Given the description of an element on the screen output the (x, y) to click on. 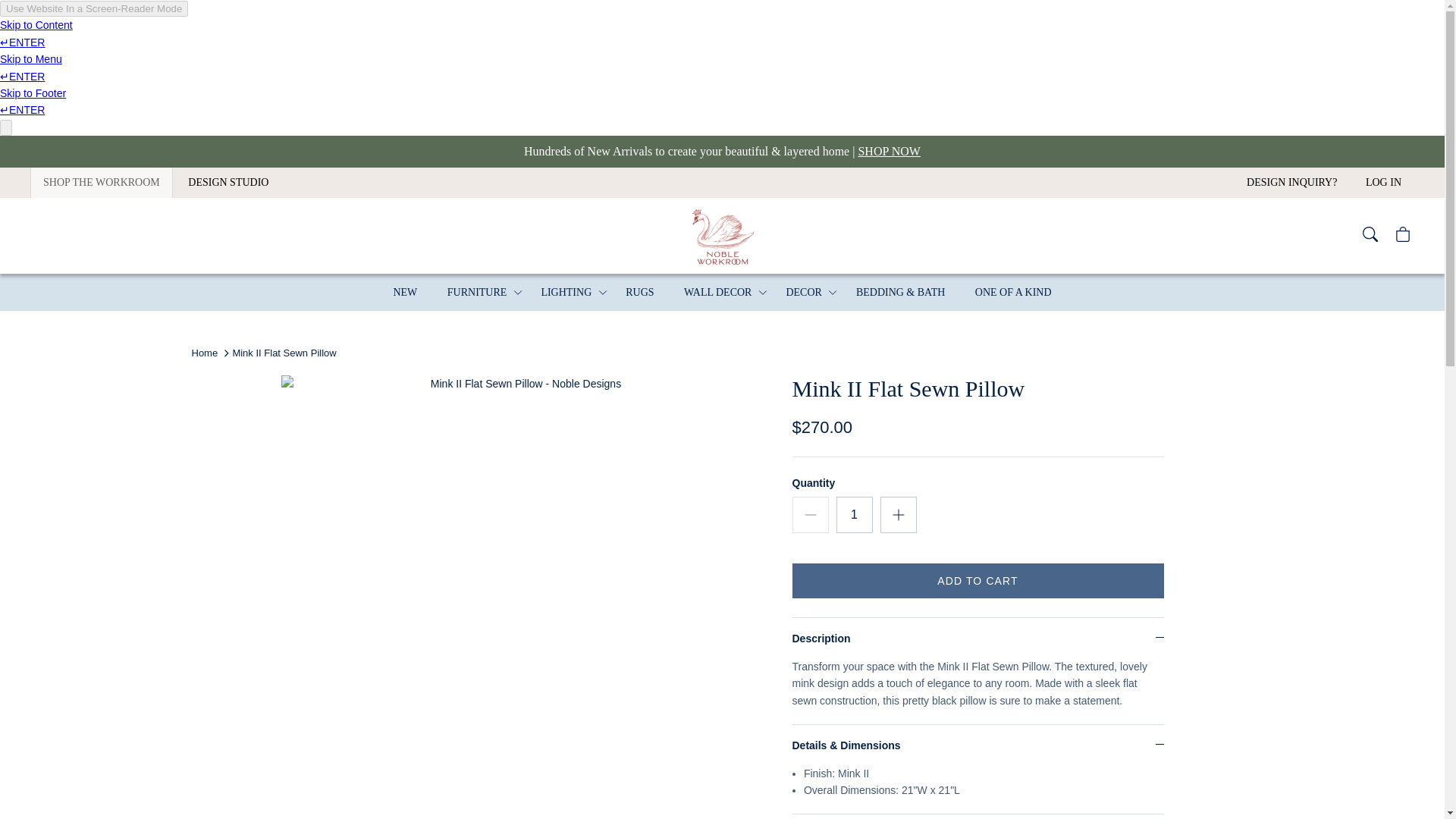
New Arrivals (722, 151)
Cart (1404, 235)
TOGGLE MENU (517, 292)
LOG IN (1382, 182)
TOGGLE MENU (602, 292)
NEW (404, 292)
FURNITURE (477, 292)
Search (1371, 235)
TOGGLE MENU (762, 292)
1 (853, 514)
